Given the description of an element on the screen output the (x, y) to click on. 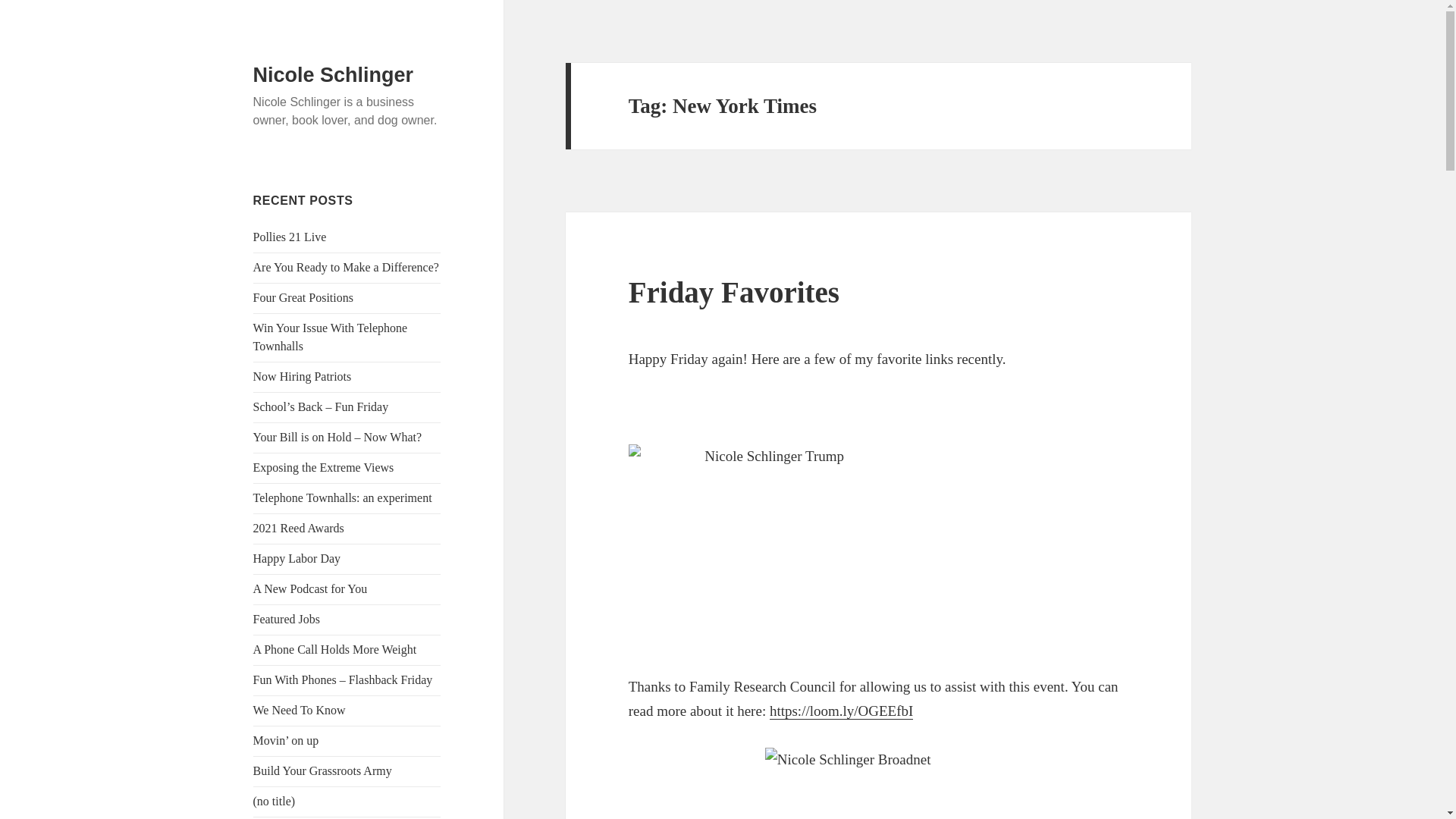
We Need To Know (299, 709)
Win Your Issue With Telephone Townhalls (330, 336)
2021 Reed Awards (298, 527)
Are You Ready to Make a Difference? (346, 267)
Now Hiring Patriots (302, 376)
Pollies 21 Live (289, 236)
Build Your Grassroots Army (322, 770)
Happy Labor Day (296, 558)
Friday Favorites (734, 292)
Telephone Townhalls: an experiment (342, 497)
